Given the description of an element on the screen output the (x, y) to click on. 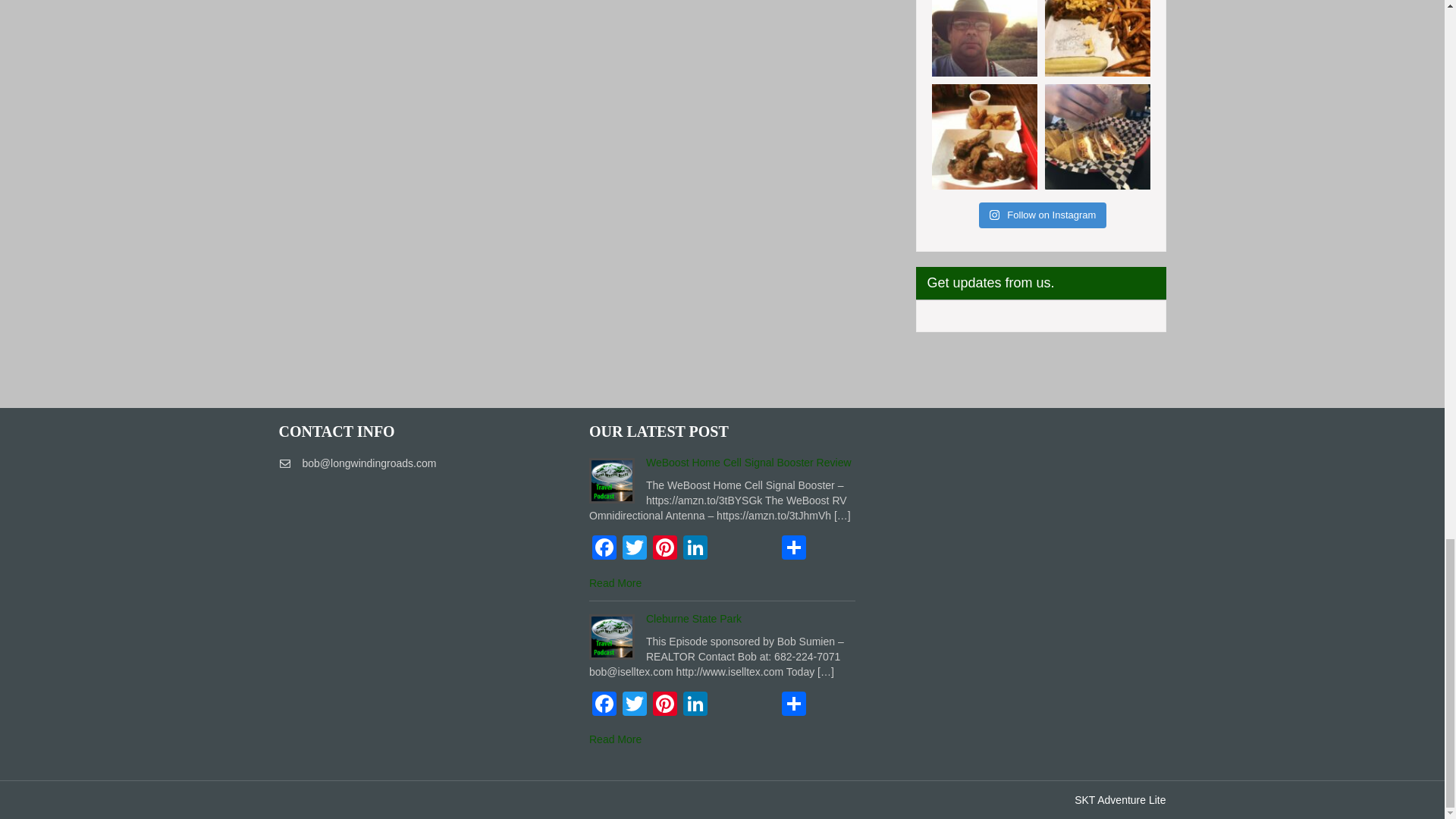
Pinterest (664, 705)
LinkedIn (694, 549)
Pinterest (664, 549)
LinkedIn (694, 705)
Twitter (634, 705)
Facebook (604, 549)
Facebook (604, 705)
Twitter (634, 549)
